Given the description of an element on the screen output the (x, y) to click on. 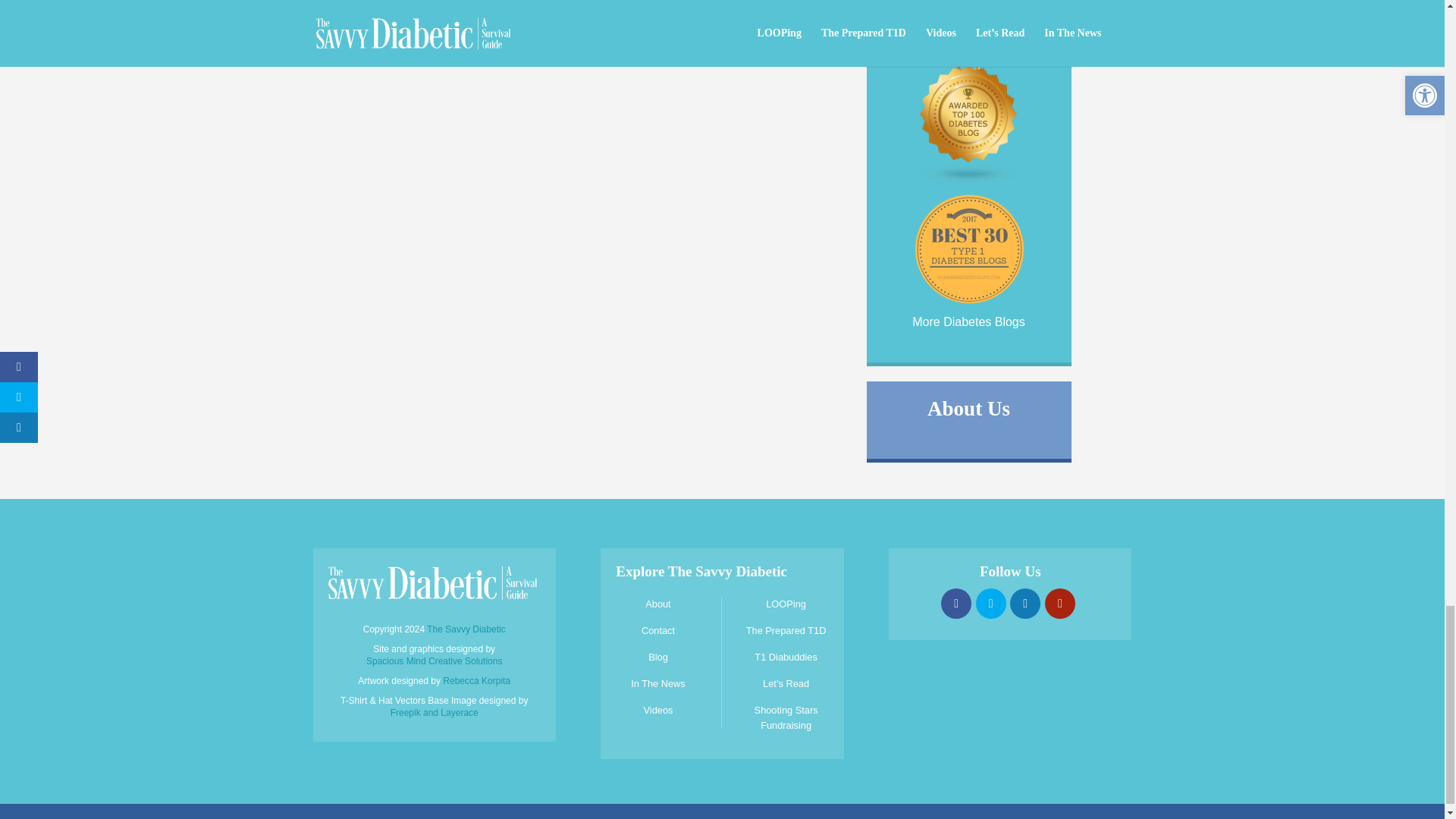
Diabetes blogs (968, 180)
Submit Comment (399, 34)
HomeRemediesForLife.com Best Blog 2017 (968, 300)
Submit Comment (399, 34)
